Given the description of an element on the screen output the (x, y) to click on. 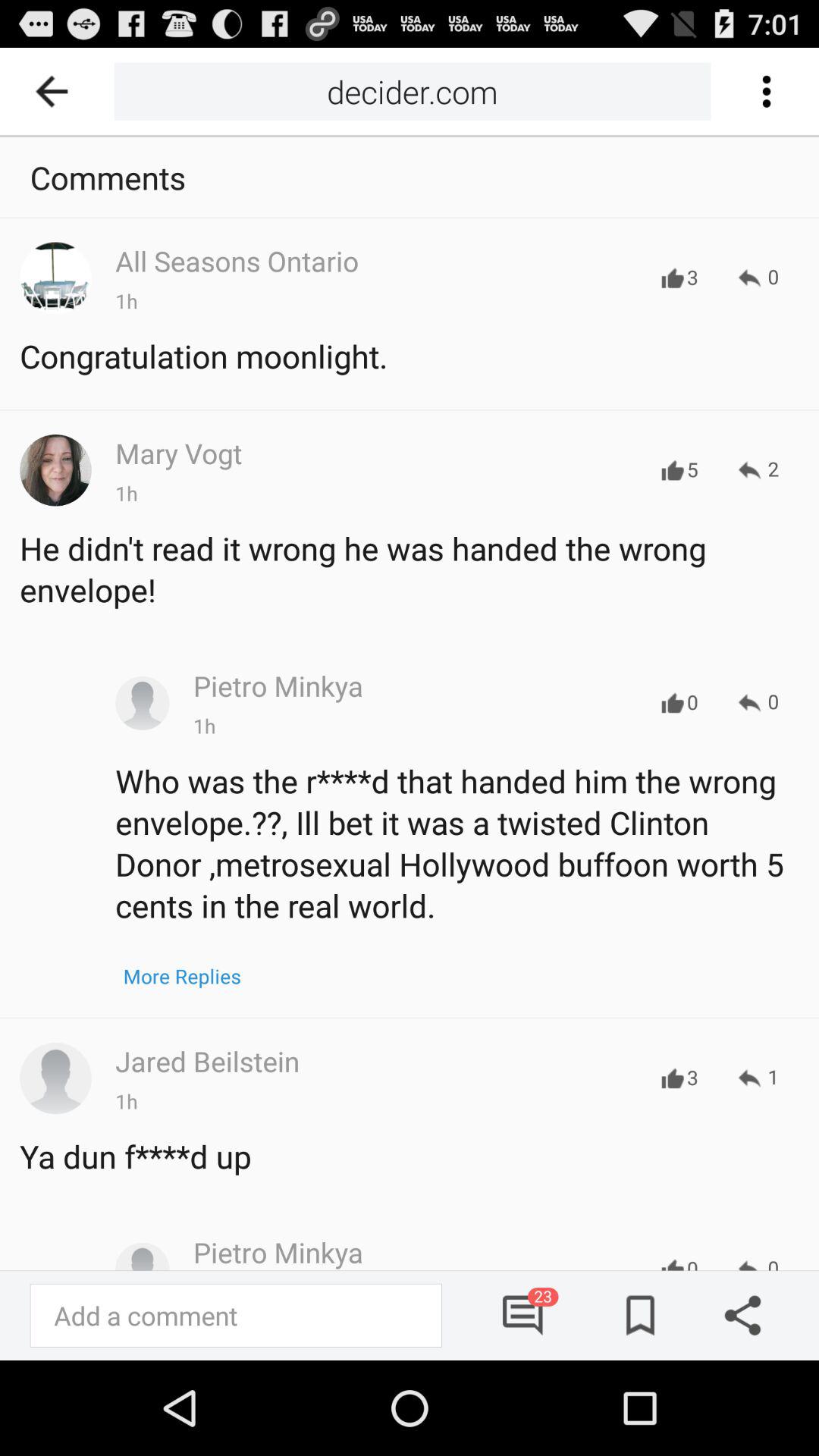
click on profile of the person (55, 1078)
